Given the description of an element on the screen output the (x, y) to click on. 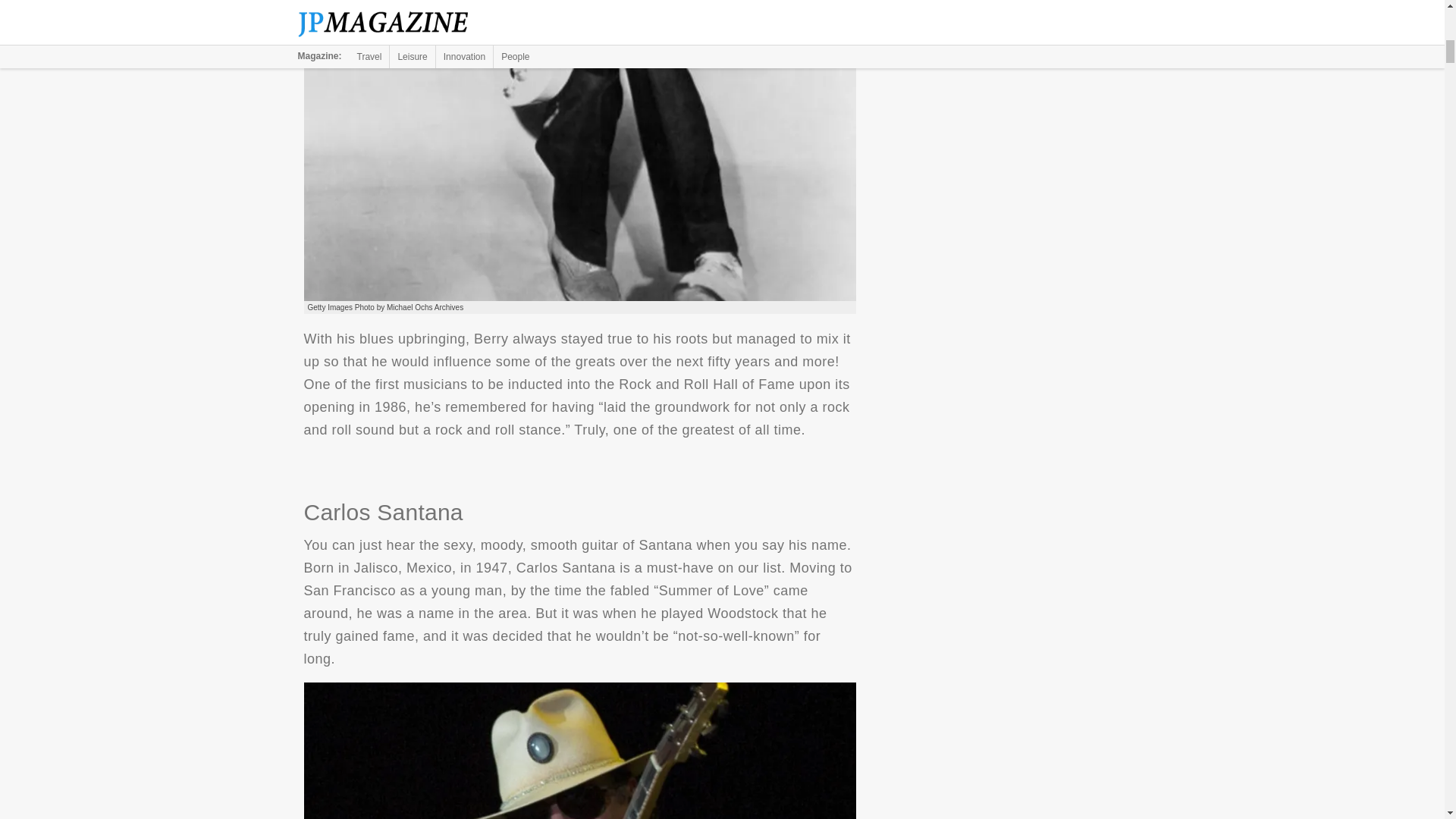
Carlos Santana (579, 750)
